Given the description of an element on the screen output the (x, y) to click on. 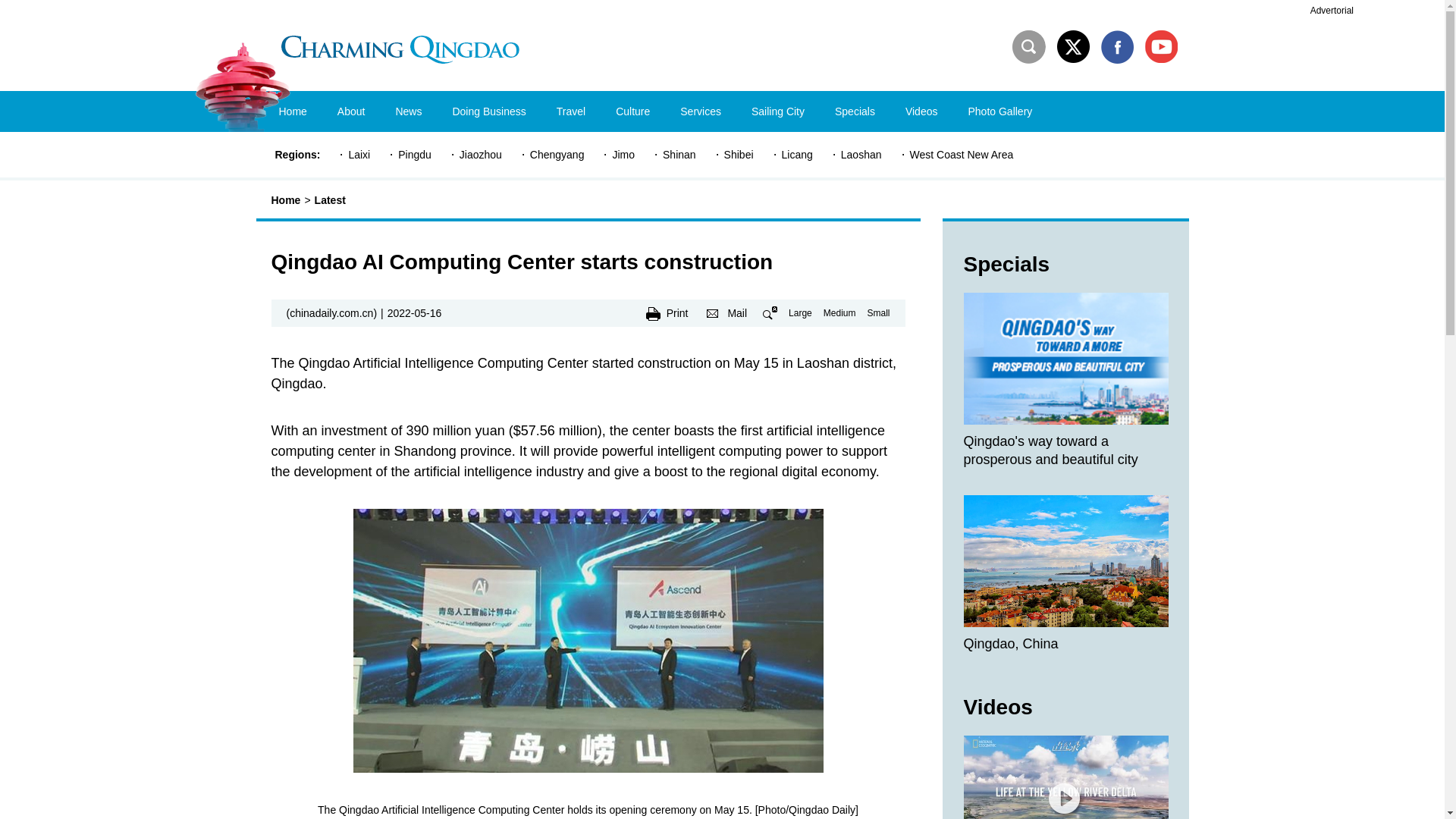
Videos (921, 110)
Sailing City (777, 110)
News (408, 110)
Travel (570, 110)
Advertorial (1332, 10)
Services (700, 110)
2 (1117, 46)
Home (292, 110)
1 (1073, 46)
Culture (632, 110)
1652768595919070369.jpeg (588, 640)
3 (1160, 46)
Doing Business (488, 110)
Specials (854, 110)
About (350, 110)
